Given the description of an element on the screen output the (x, y) to click on. 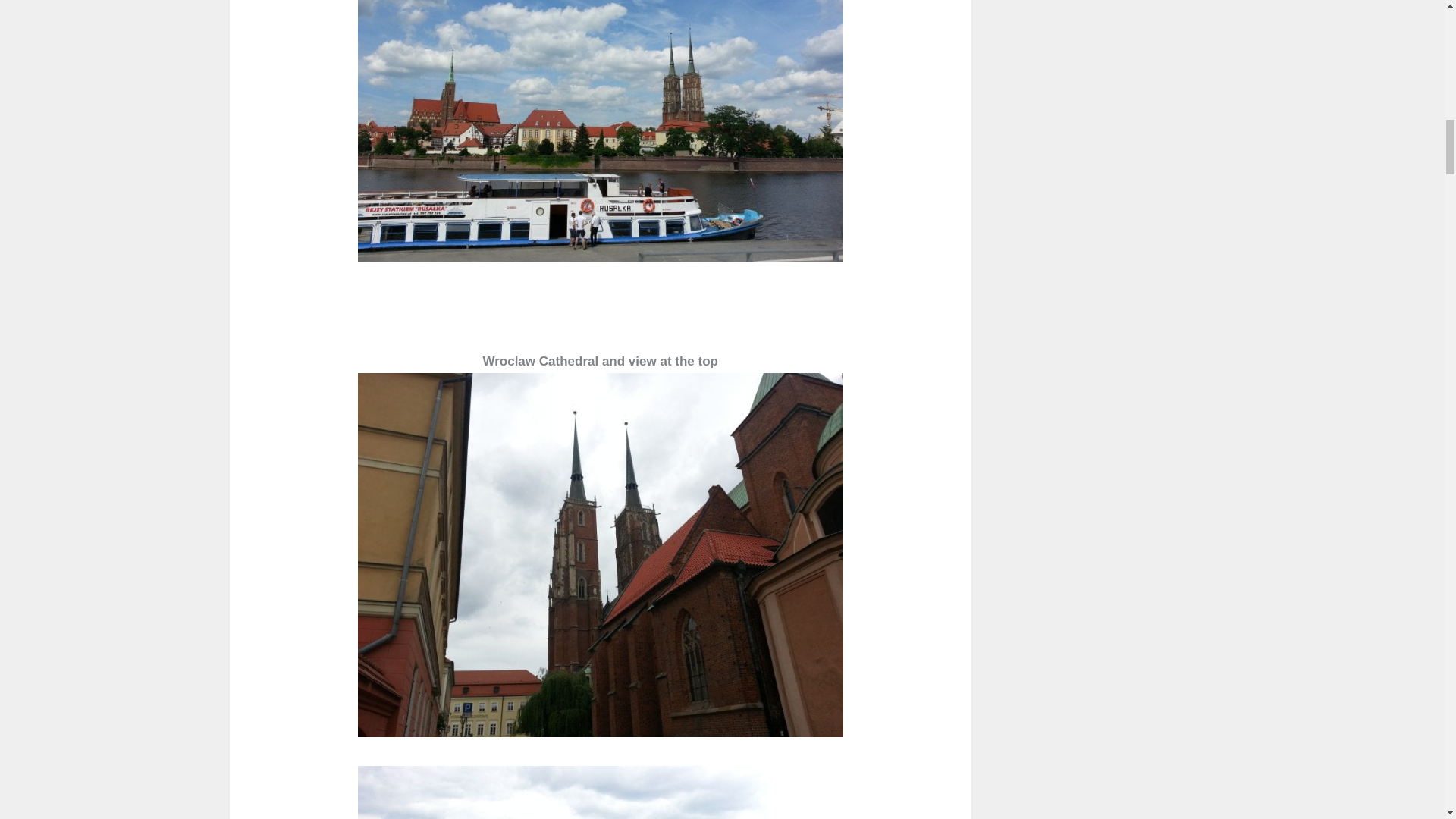
Wroclaw (600, 792)
Wroclaw (600, 130)
